Given the description of an element on the screen output the (x, y) to click on. 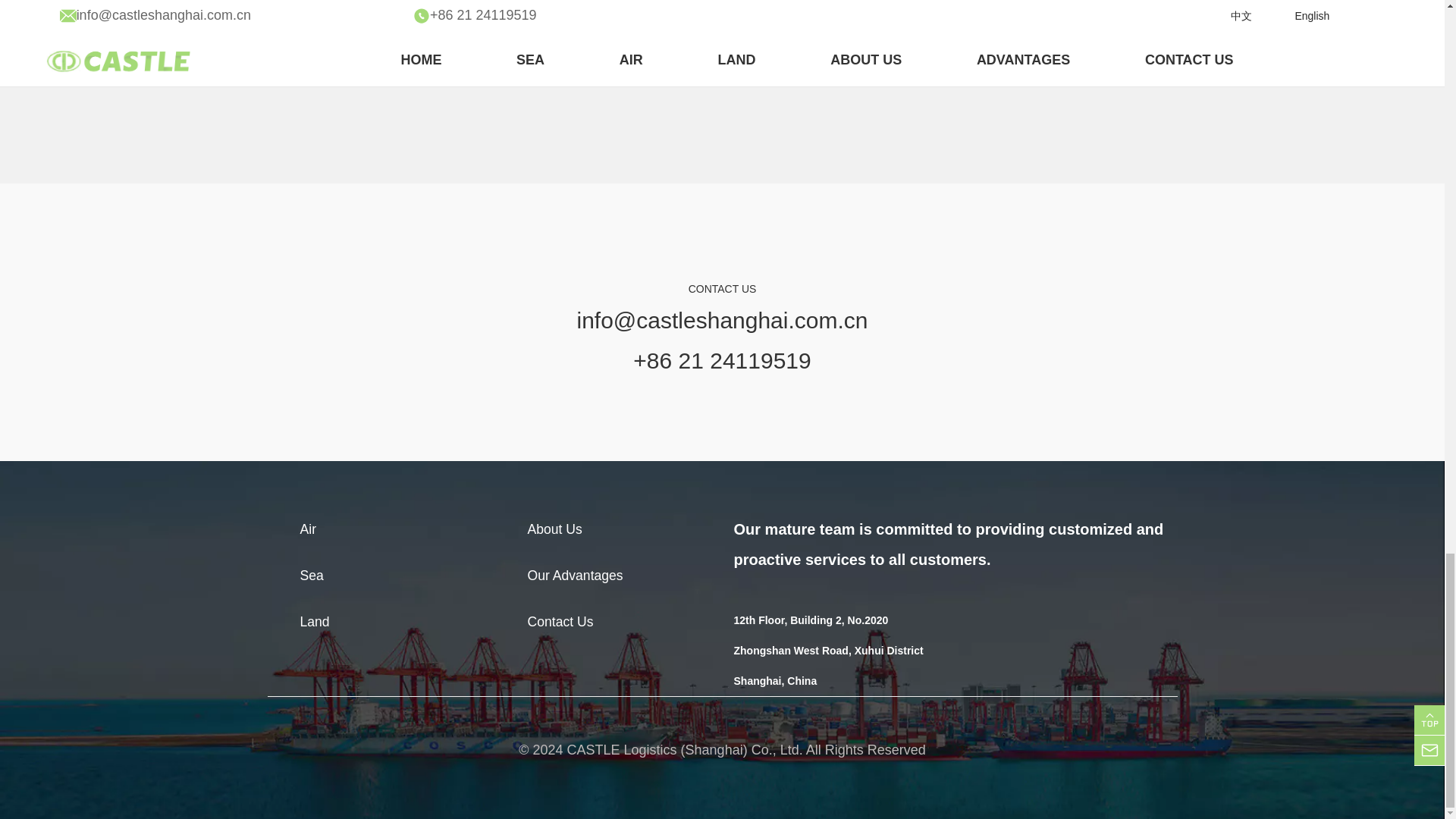
Sea (311, 575)
Contact Us (560, 621)
About Us (554, 529)
Air (308, 529)
Our Advantages (575, 575)
Land (314, 621)
